Given the description of an element on the screen output the (x, y) to click on. 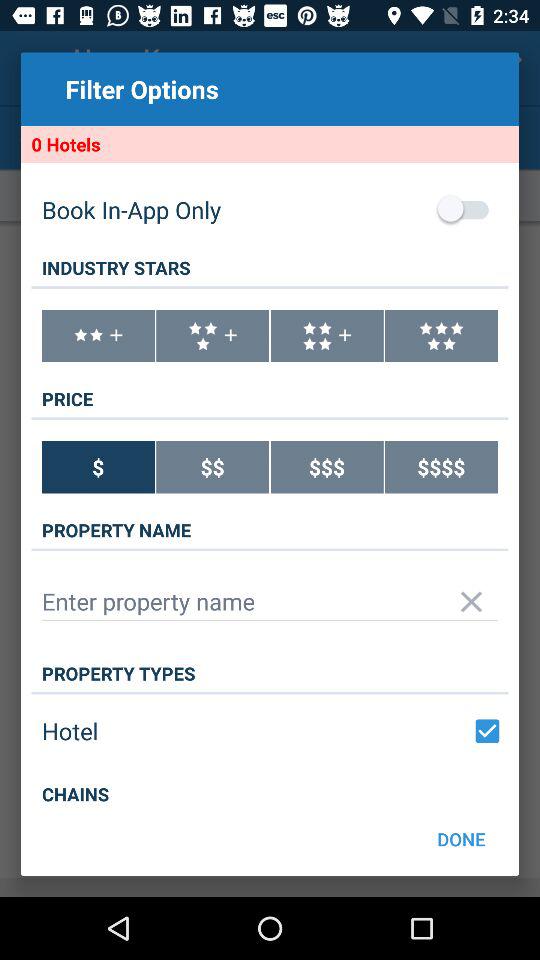
select 4 stars (326, 335)
